Given the description of an element on the screen output the (x, y) to click on. 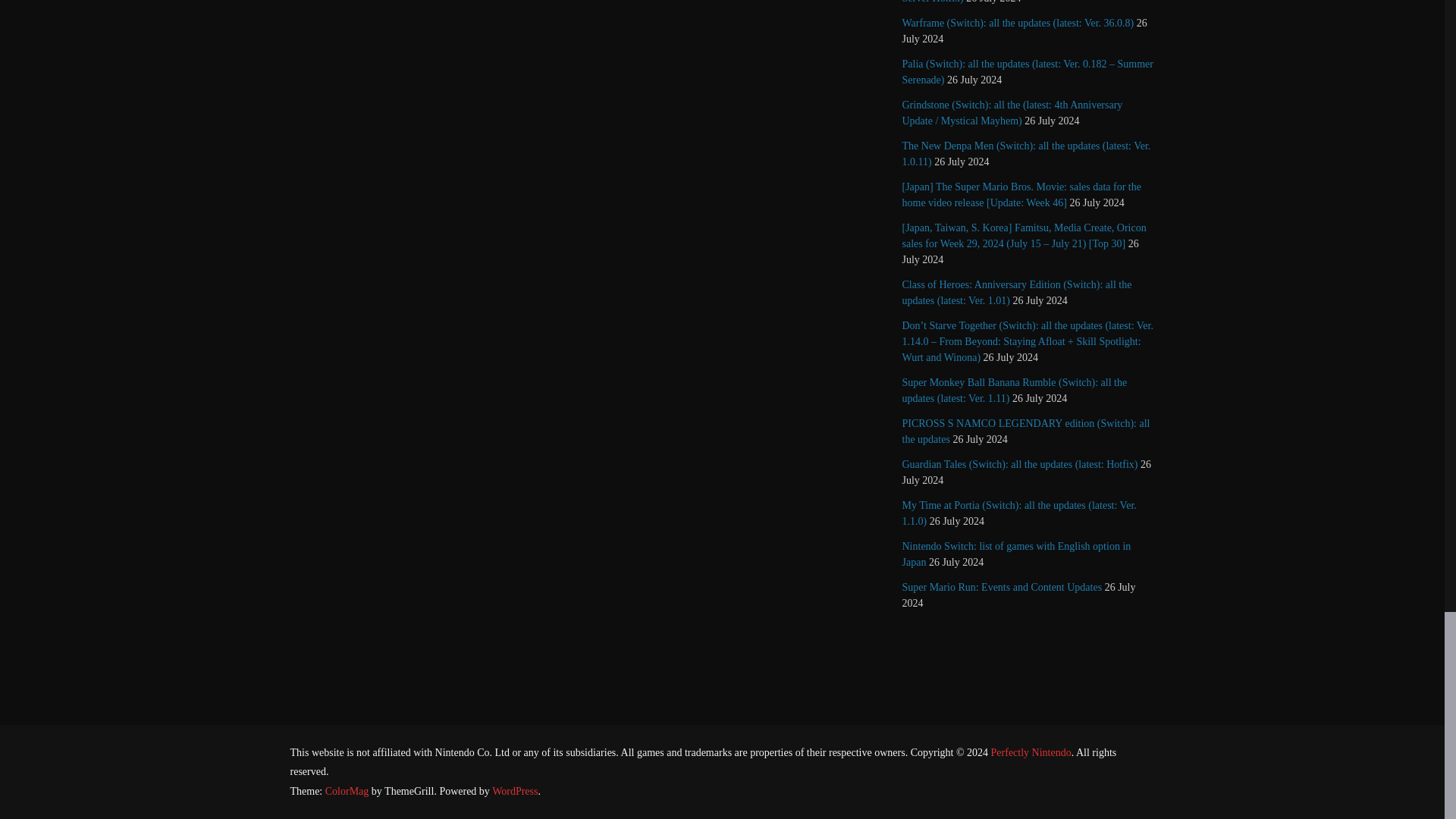
ColorMag (346, 790)
Perfectly Nintendo (1031, 752)
WordPress (514, 790)
